Given the description of an element on the screen output the (x, y) to click on. 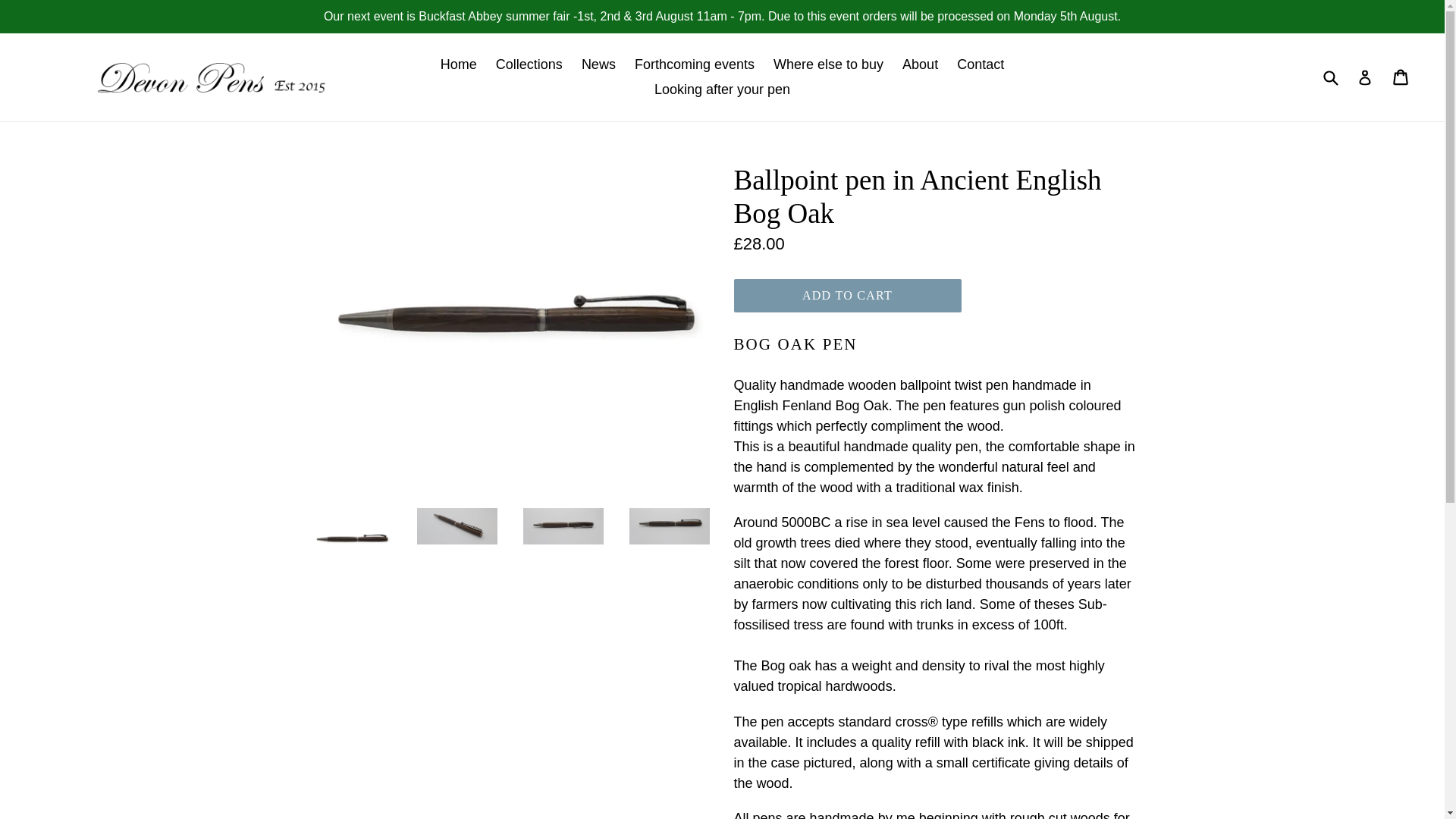
Home (458, 64)
News (598, 64)
Contact (980, 64)
About (919, 64)
Collections (528, 64)
Where else to buy (828, 64)
Forthcoming events (694, 64)
Looking after your pen (721, 89)
ADD TO CART (846, 295)
